Given the description of an element on the screen output the (x, y) to click on. 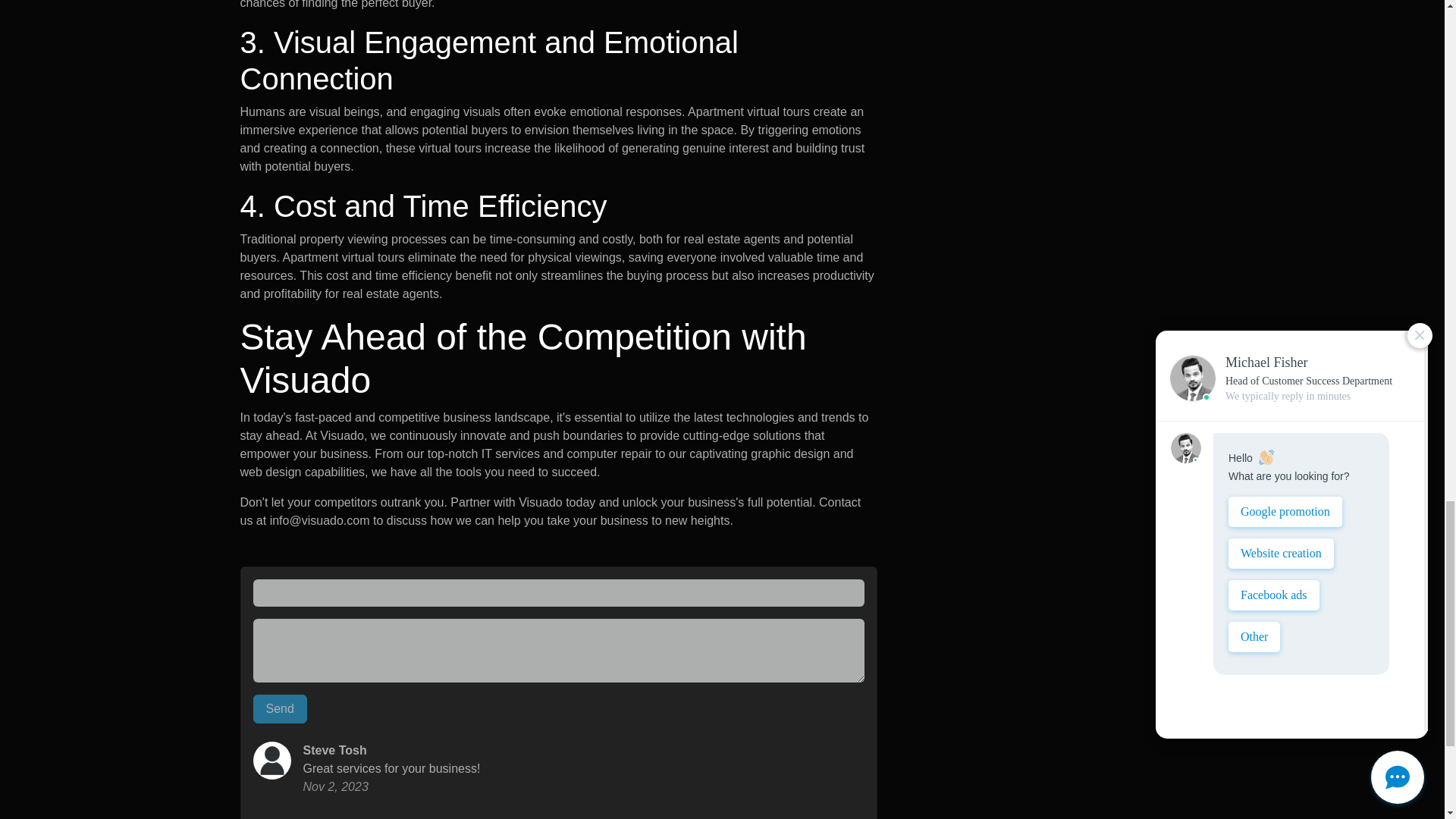
Send (280, 708)
Send (280, 708)
